Given the description of an element on the screen output the (x, y) to click on. 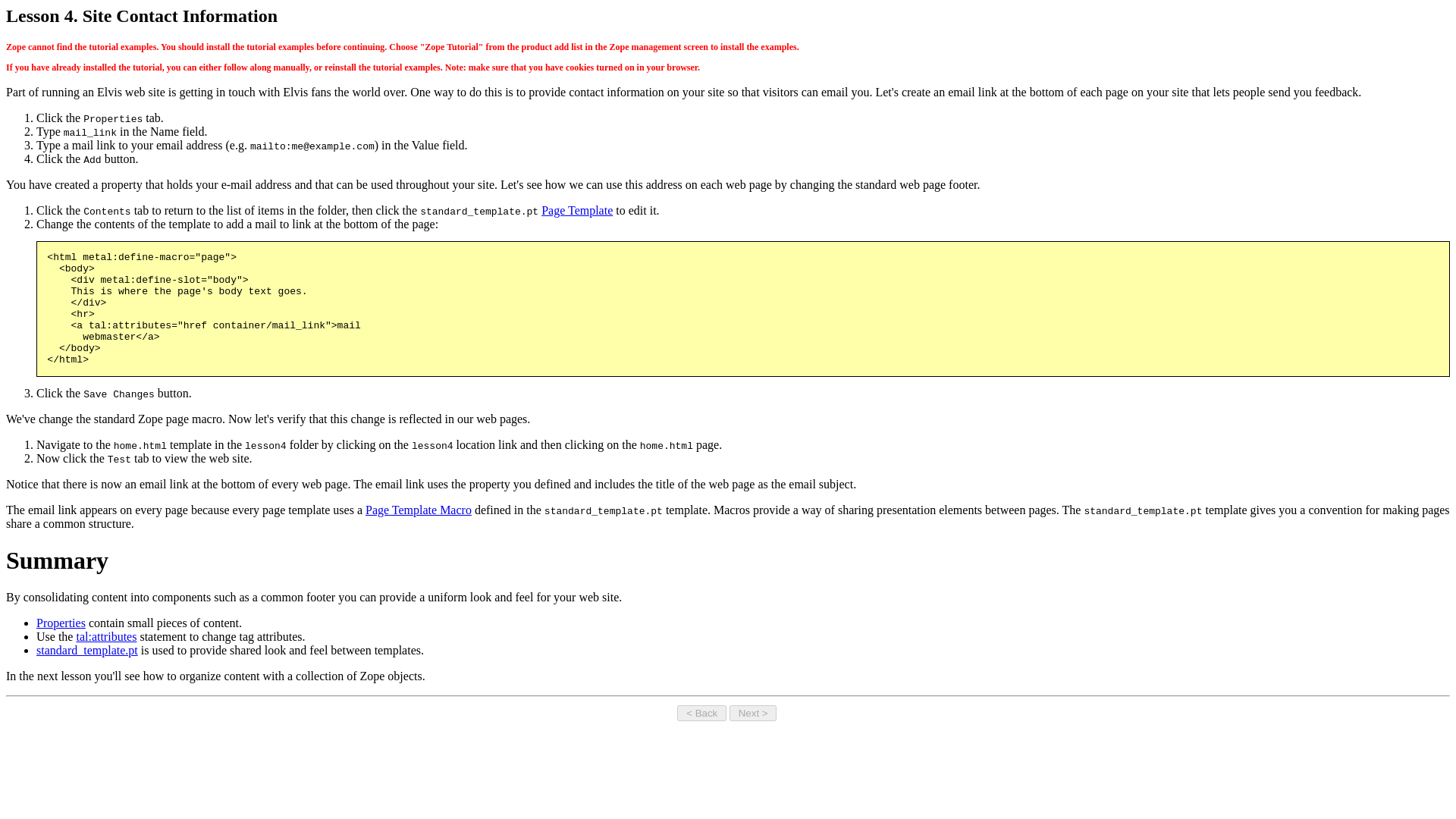
tal:attributes (105, 635)
Page Template Macro (418, 509)
Properties (60, 622)
Page Template (576, 210)
